Given the description of an element on the screen output the (x, y) to click on. 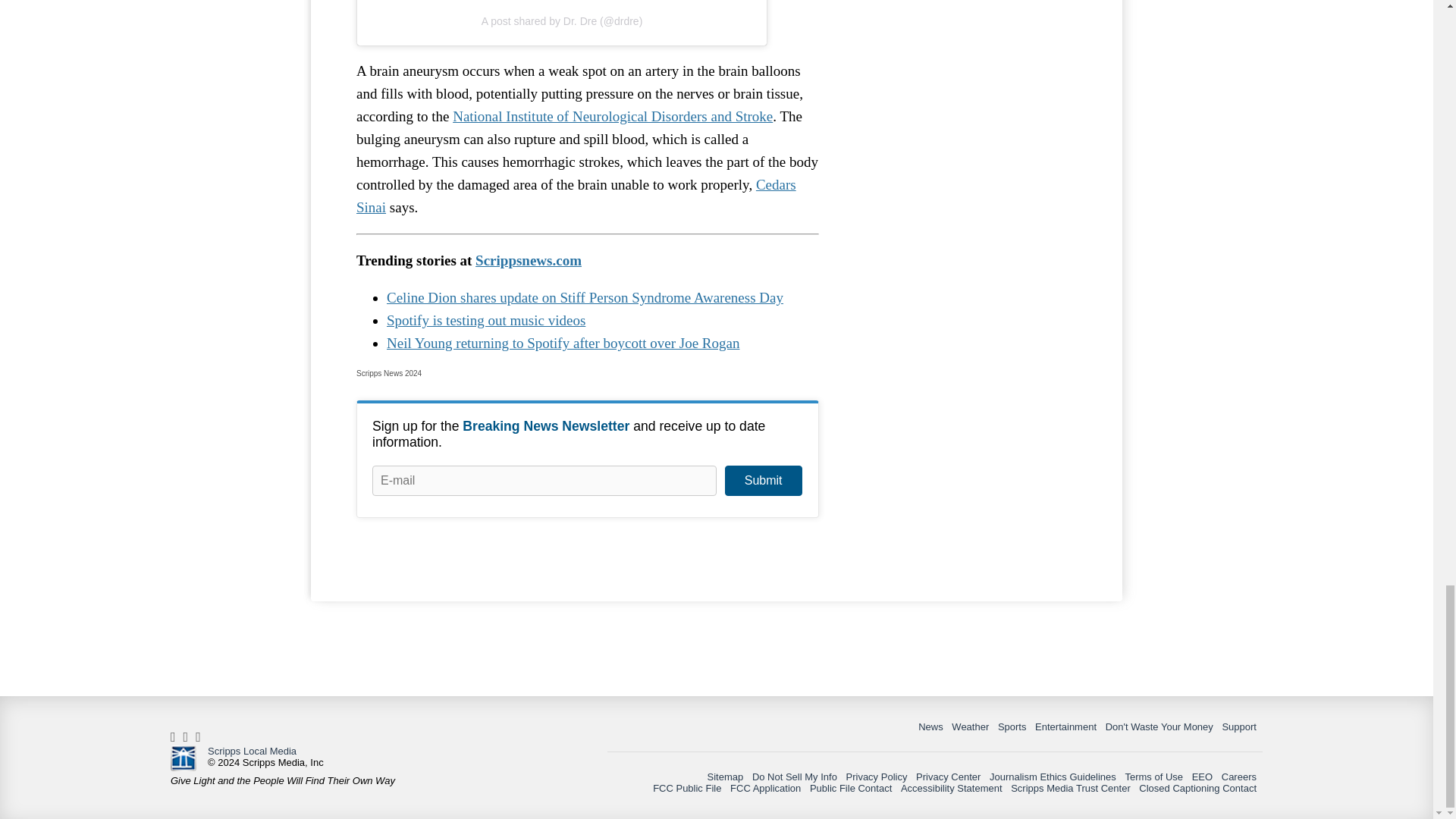
Submit (763, 481)
